Given the description of an element on the screen output the (x, y) to click on. 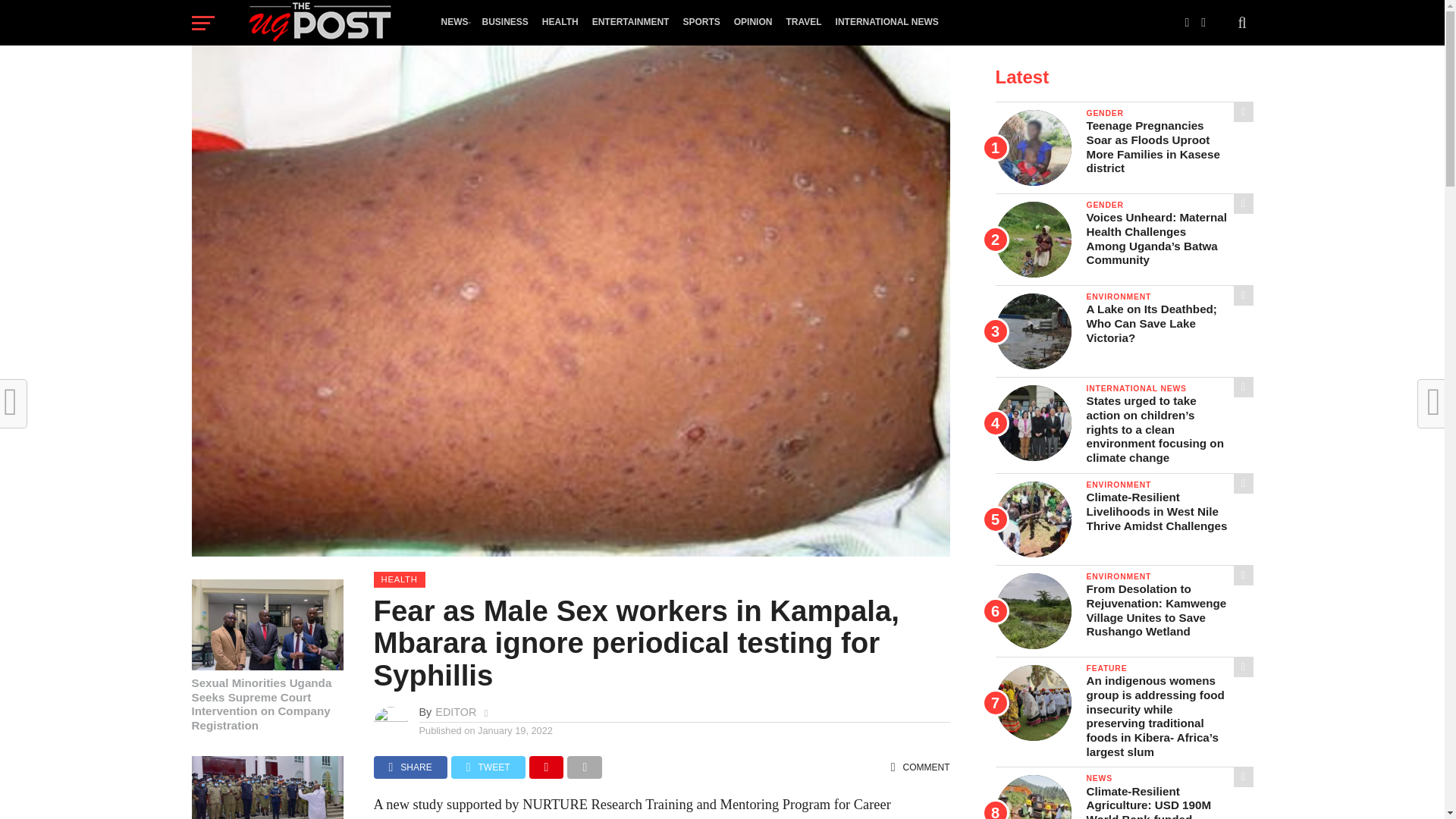
Posts by EDITOR (455, 711)
NEWS (453, 22)
GRANTS (459, 65)
HEALTH (560, 22)
TRAVEL (803, 22)
ENTERTAINMENT (631, 22)
OPINION (752, 22)
BUSINESS (504, 22)
SPORTS (700, 22)
INTERNATIONAL NEWS (886, 22)
